Given the description of an element on the screen output the (x, y) to click on. 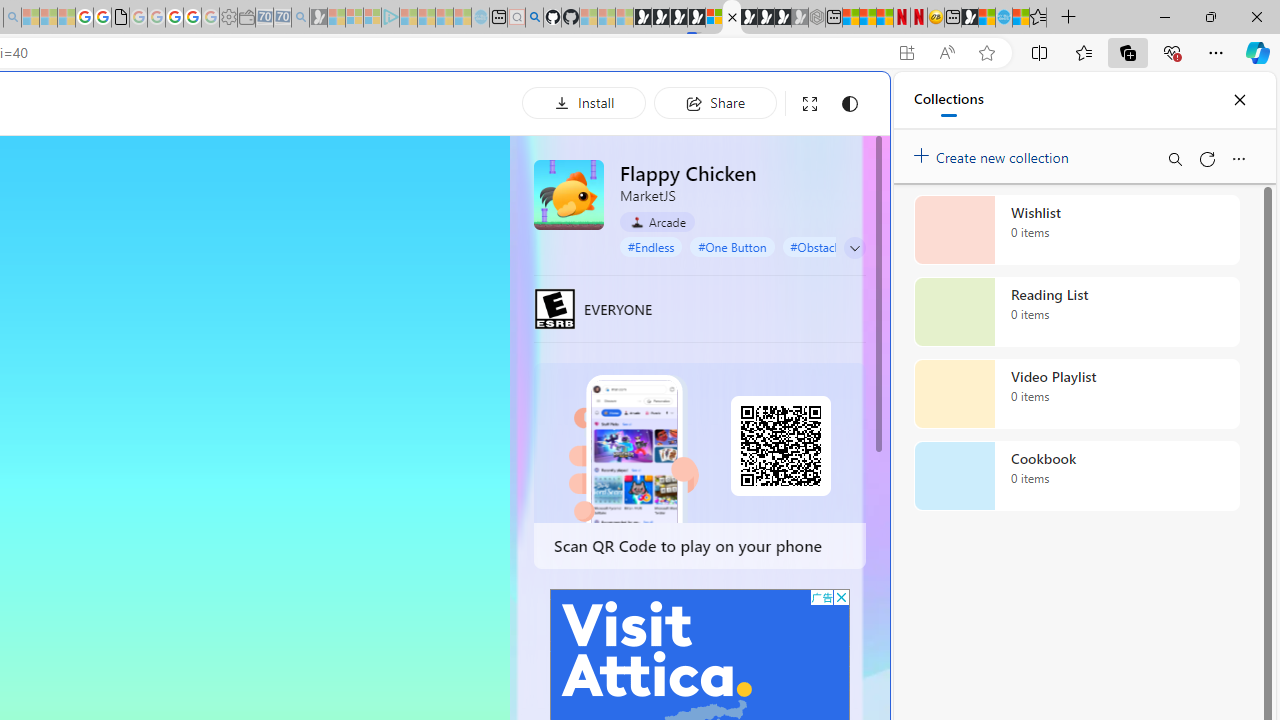
Share (715, 102)
Class: expand-arrow neutral (854, 247)
Wallet - Sleeping (246, 17)
Flappy Chicken (568, 194)
Install (583, 102)
Change to dark mode (849, 103)
